Given the description of an element on the screen output the (x, y) to click on. 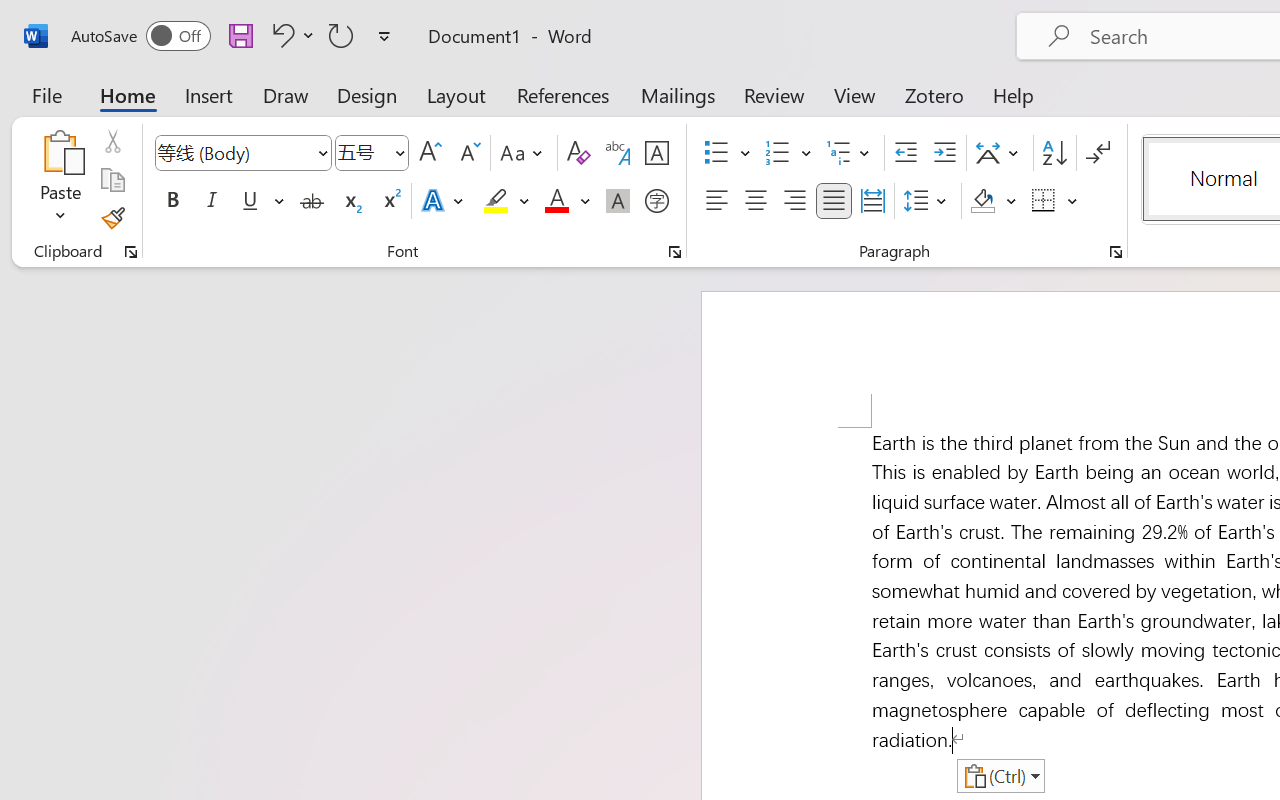
Shading (993, 201)
Align Right (794, 201)
Copy (112, 179)
Font... (675, 252)
Undo Paste Text Only (280, 35)
Clear Formatting (578, 153)
